Given the description of an element on the screen output the (x, y) to click on. 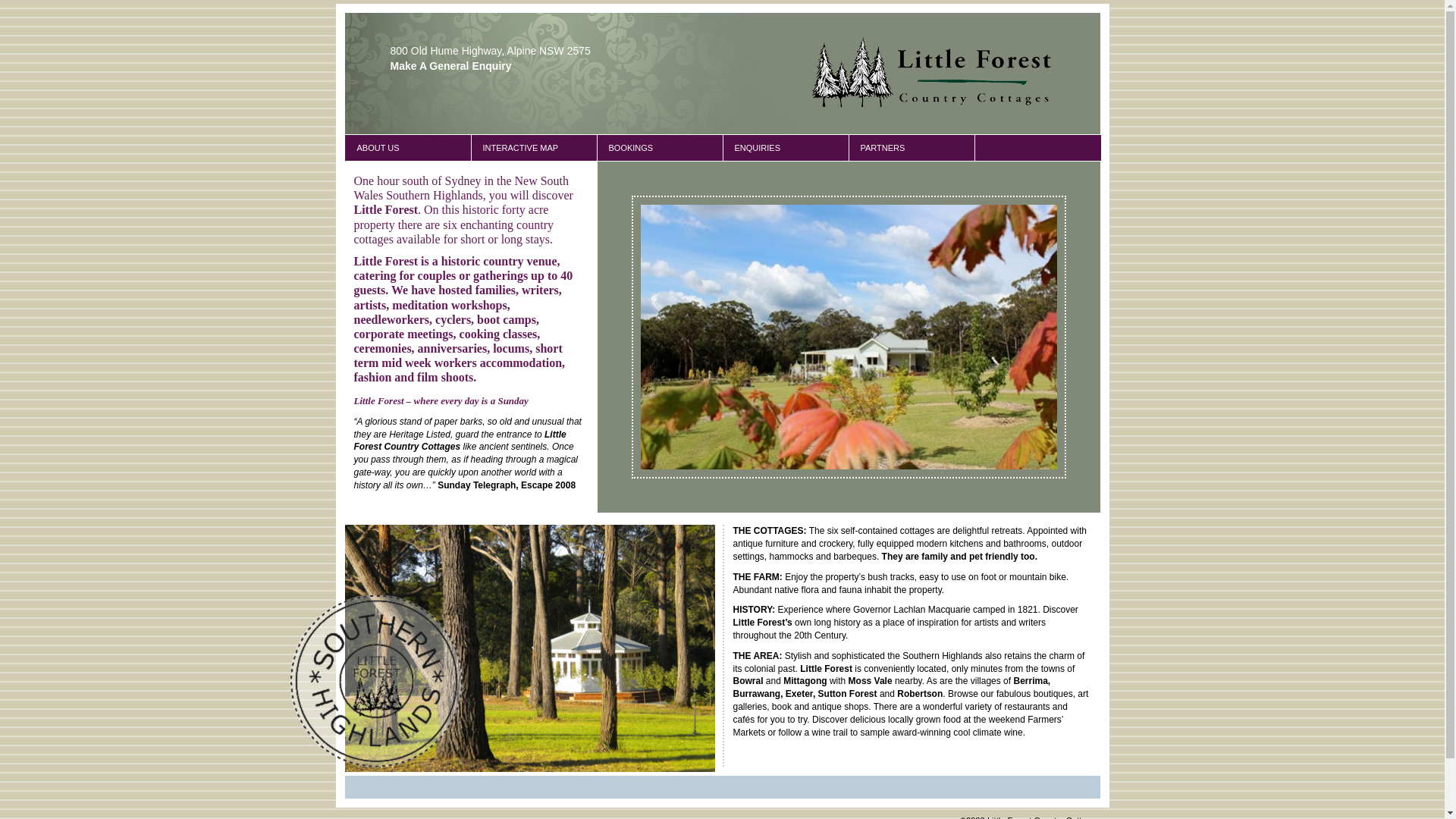
PARTNERS Element type: text (911, 147)
Make A General Enquiry Element type: text (450, 65)
BOOKINGS Element type: text (659, 147)
ENQUIRIES Element type: text (785, 147)
INTERACTIVE MAP Element type: text (533, 147)
Gazebo Element type: hover (529, 647)
ABOUT US Element type: text (407, 147)
